Given the description of an element on the screen output the (x, y) to click on. 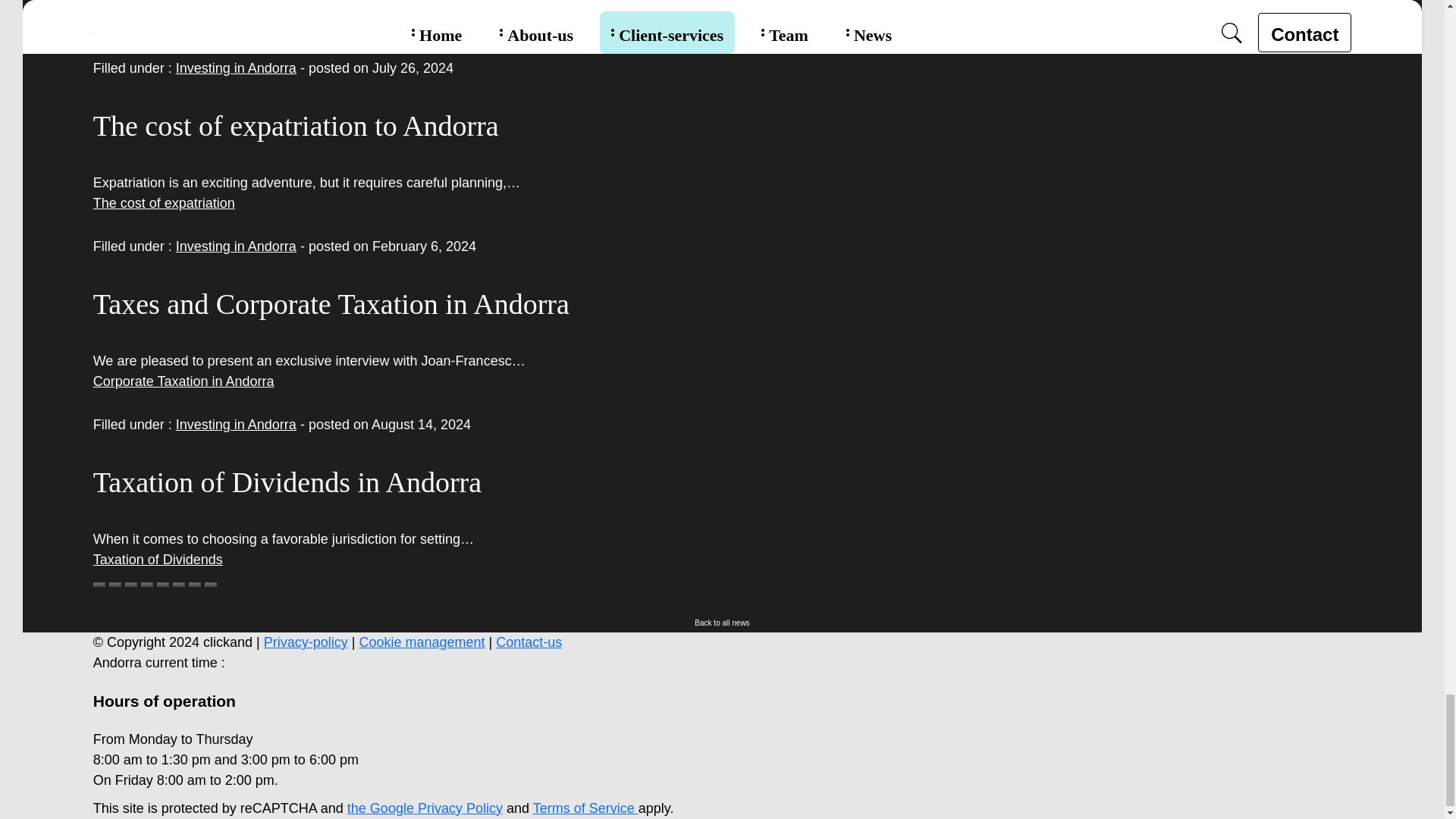
The cost of expatriation (163, 202)
Investing in Andorra (236, 424)
Investing in Andorra (236, 246)
Taxation of Dividends (157, 559)
Investing in Andorra (236, 68)
Corporate Taxation in Andorra (184, 381)
The financial sector in andorra (184, 24)
